Given the description of an element on the screen output the (x, y) to click on. 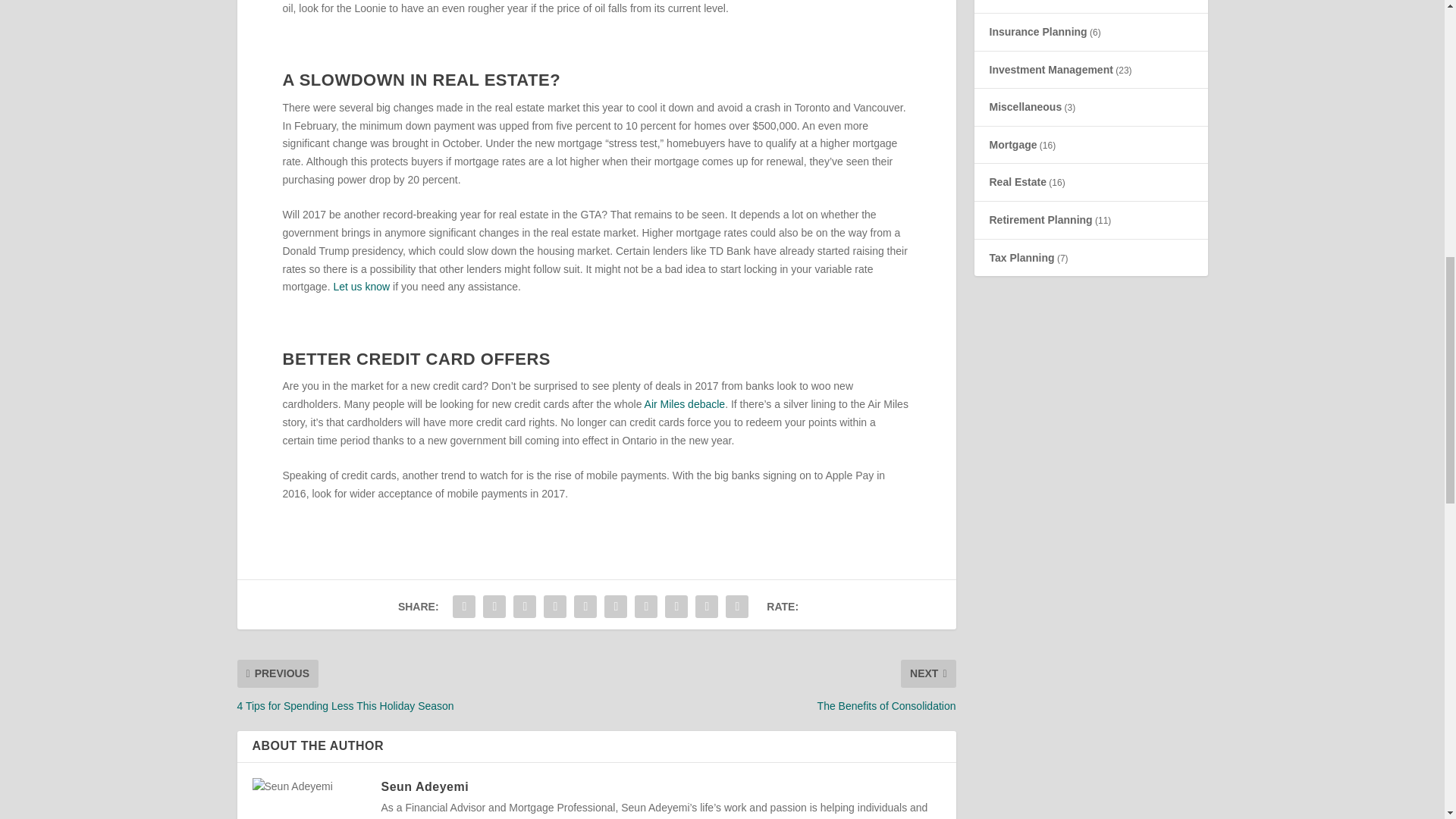
Air Miles debacle (685, 404)
Seun Adeyemi (424, 785)
Let us know (361, 286)
